Given the description of an element on the screen output the (x, y) to click on. 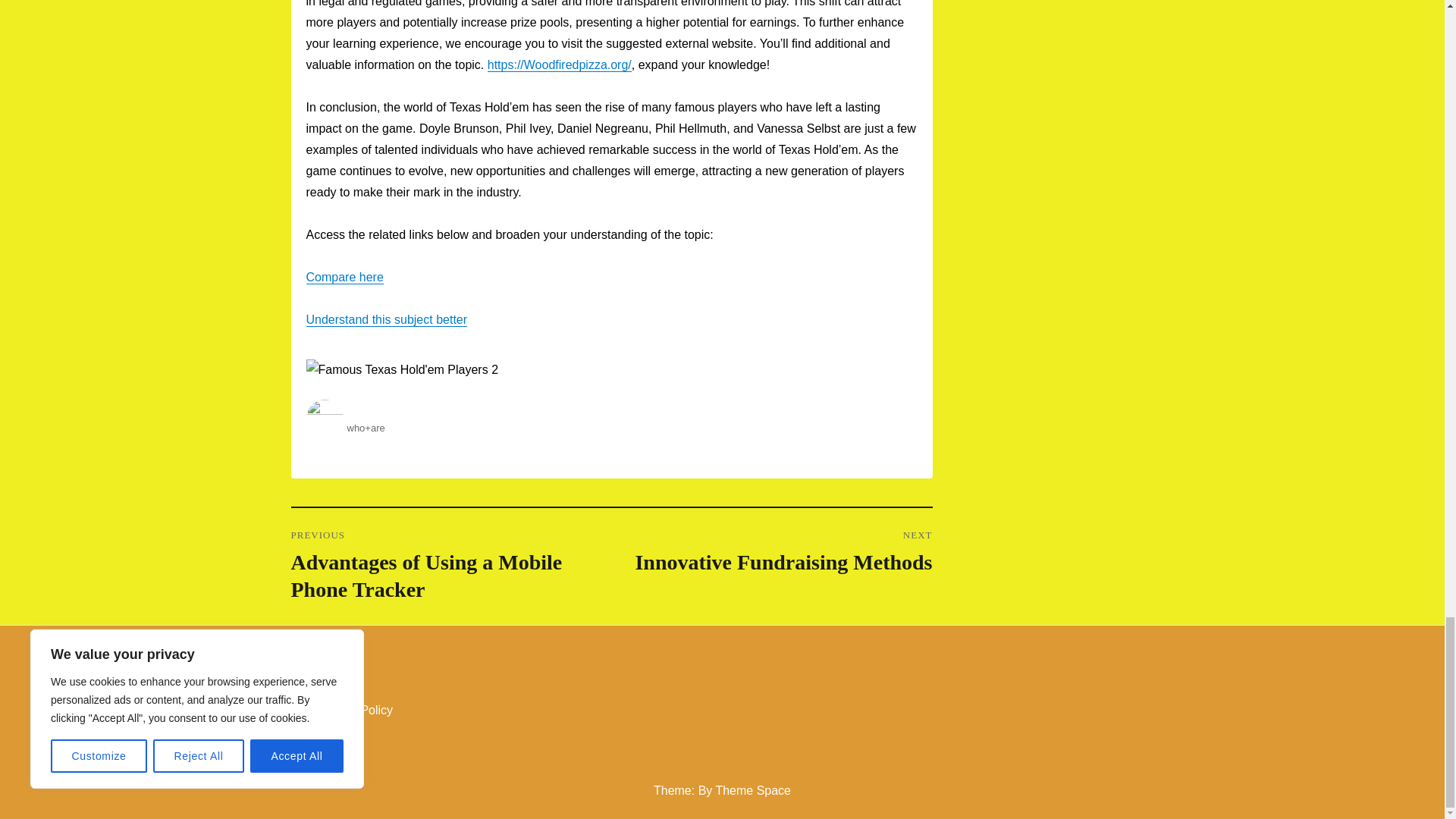
Understand this subject better (386, 318)
Compare here (344, 277)
